Given the description of an element on the screen output the (x, y) to click on. 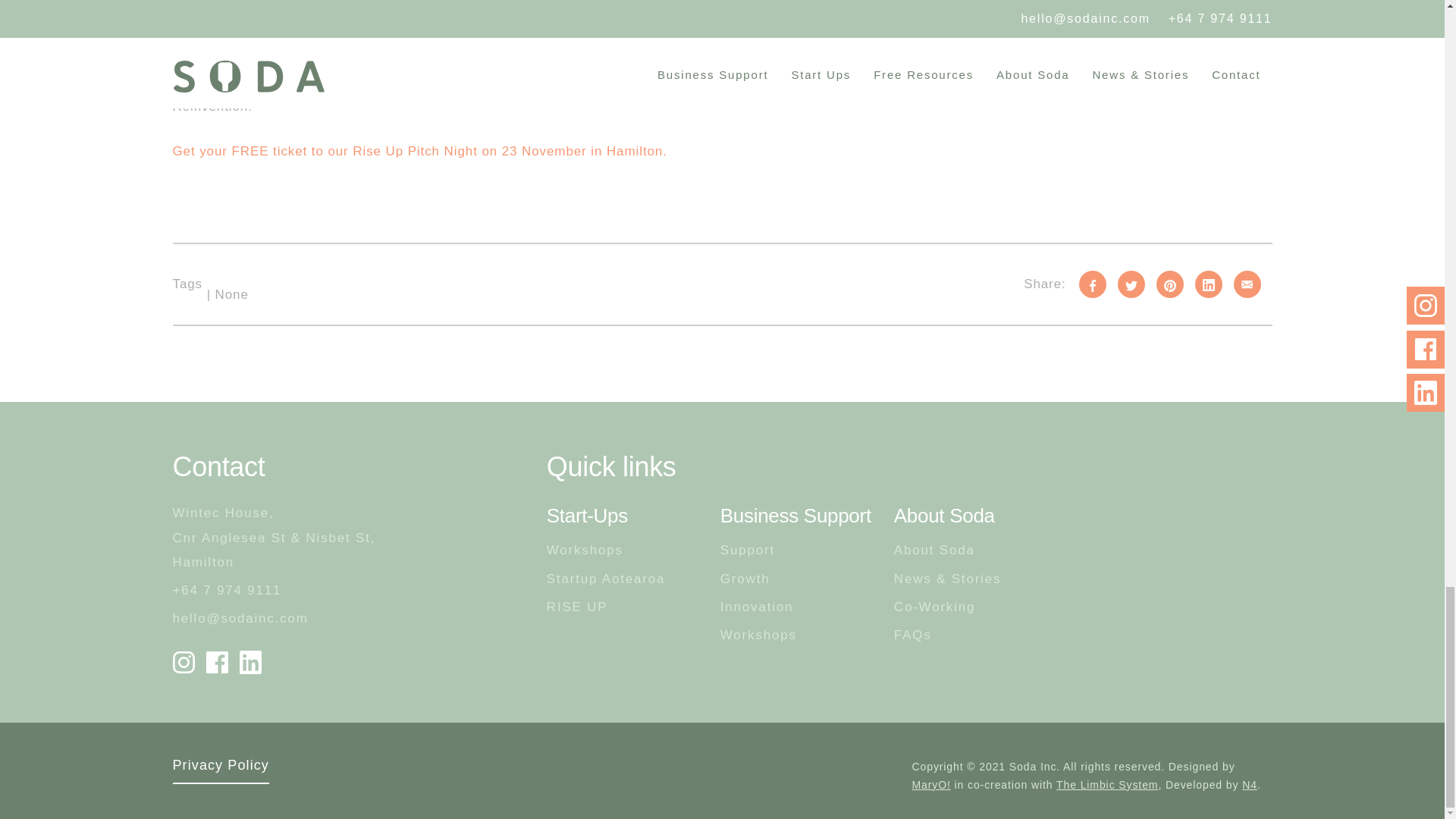
Support (747, 550)
Innovation (756, 607)
Growth (745, 579)
RISE UP (606, 607)
Startup Aotearoa (606, 579)
Workshops (606, 550)
